Given the description of an element on the screen output the (x, y) to click on. 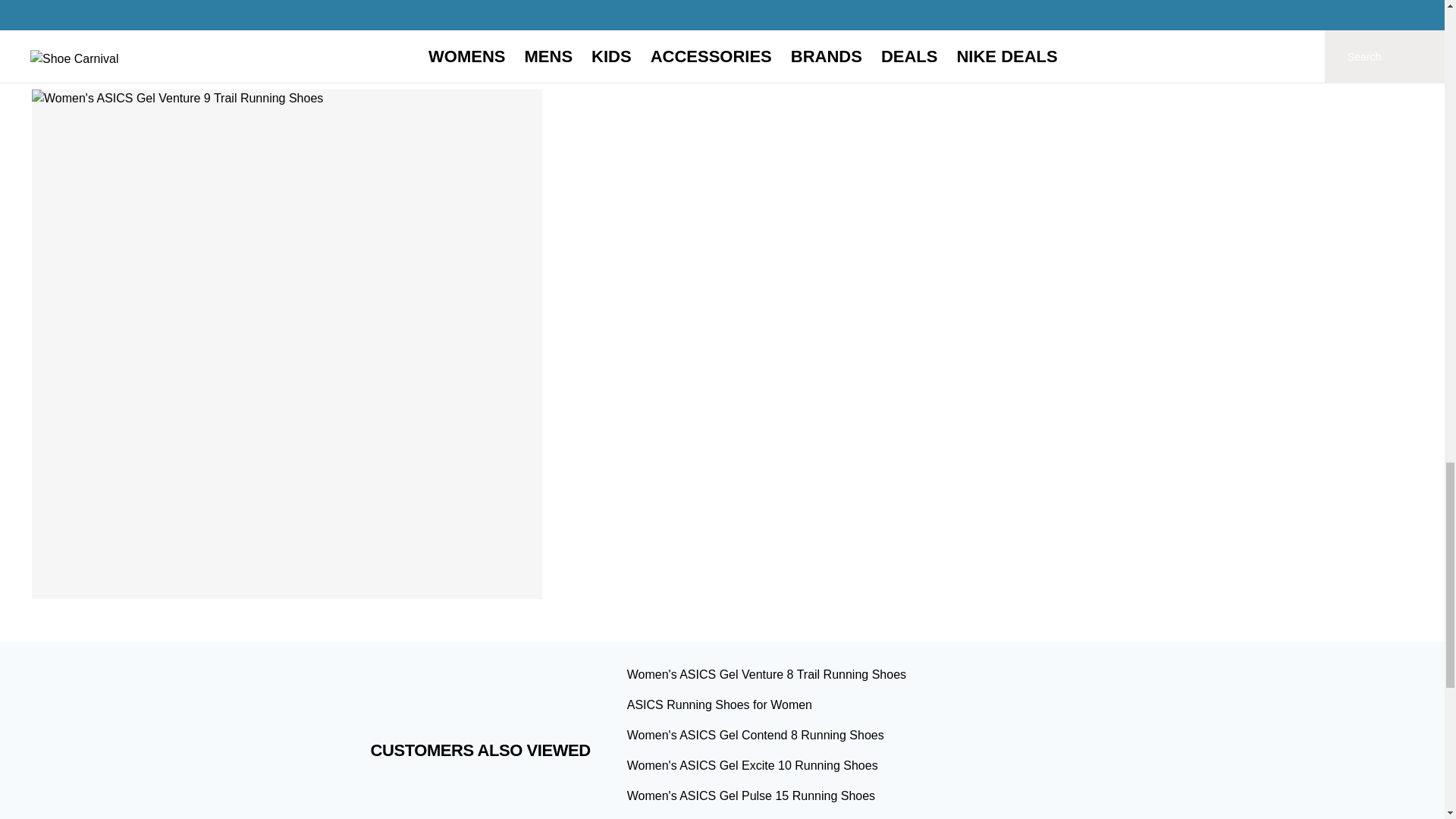
ASICS Running Shoes for Women (719, 704)
Women's ASICS Gel Contend 8 Running Shoes (755, 735)
Women's ASICS Gel Venture 8 Trail Running Shoes (766, 674)
Women's ASICS Gel Excite 10 Running Shoes (752, 765)
Women's ASICS Gel Pulse 15 Running Shoes (751, 795)
